Given the description of an element on the screen output the (x, y) to click on. 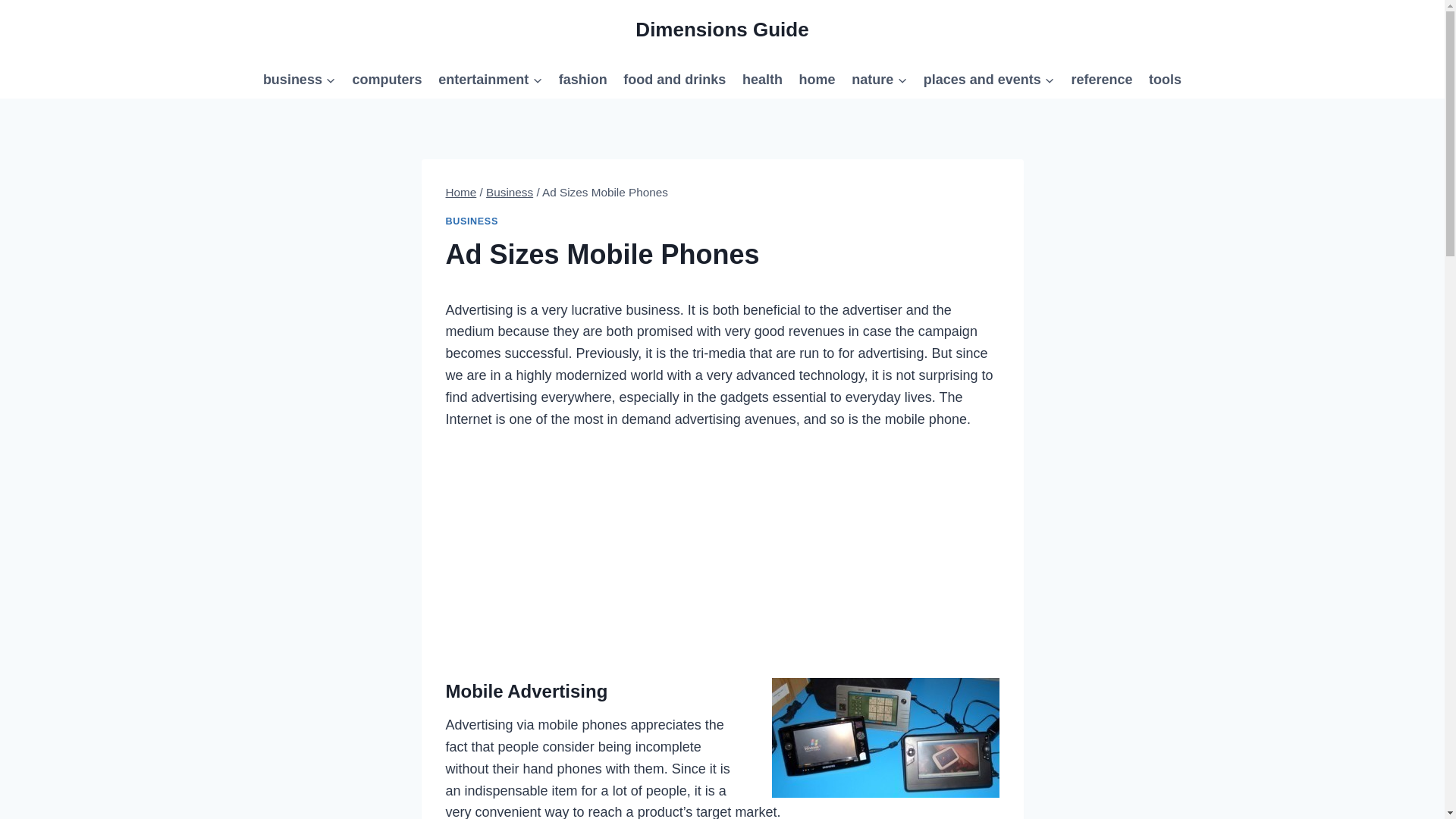
Ad Sizes Mobile Phones (884, 737)
Home (461, 192)
business (298, 79)
tools (1164, 79)
food and drinks (675, 79)
reference (1101, 79)
health (761, 79)
Advertisement (721, 548)
BUSINESS (471, 221)
computers (386, 79)
fashion (582, 79)
nature (879, 79)
Business (509, 192)
Dimensions Guide (721, 29)
home (817, 79)
